Given the description of an element on the screen output the (x, y) to click on. 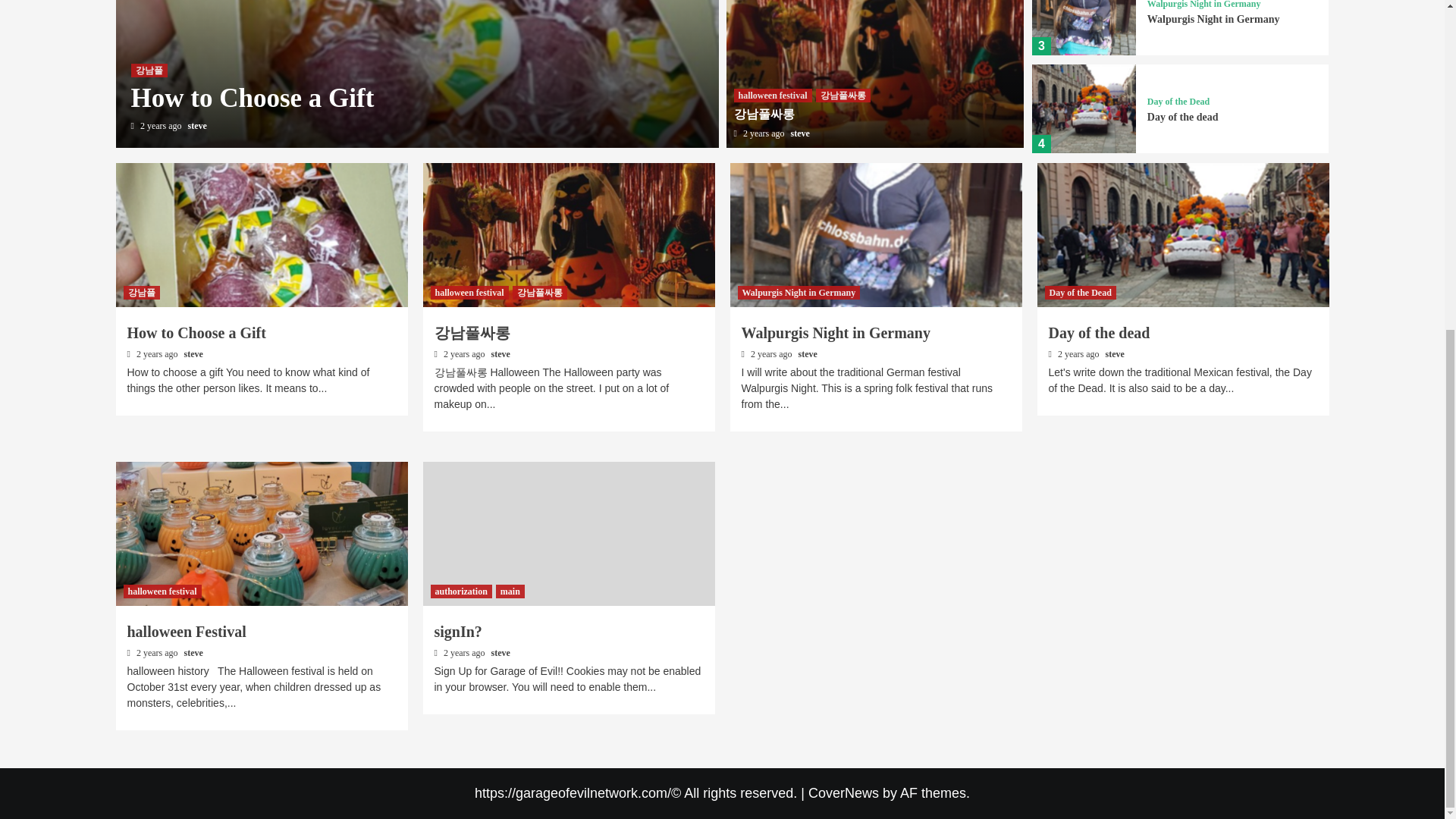
How to Choose a Gift (252, 97)
steve (196, 125)
2 years ago (161, 125)
